Given the description of an element on the screen output the (x, y) to click on. 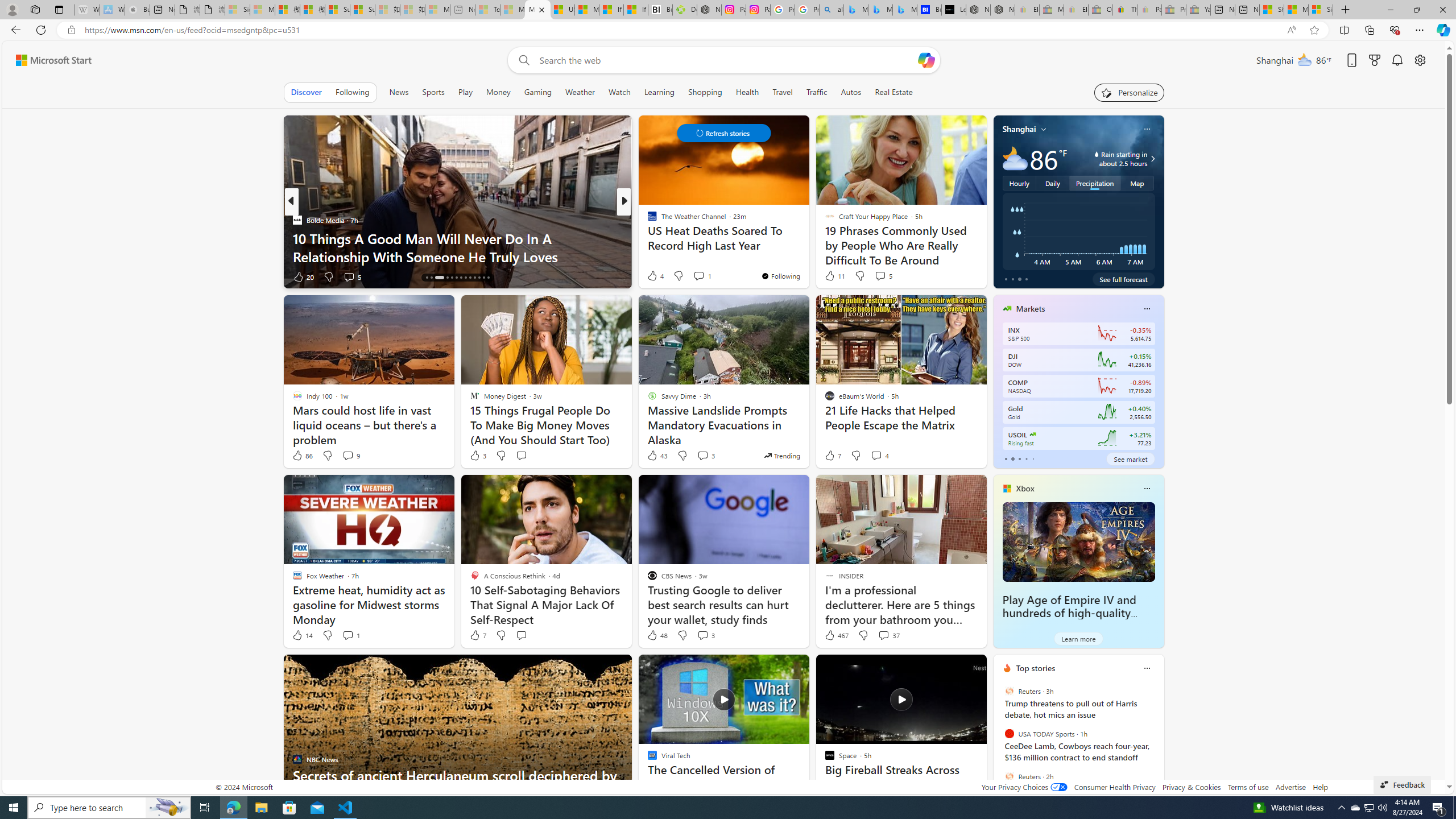
View comments 339 Comment (709, 276)
AutomationID: tab-20 (460, 277)
next (1158, 741)
Shopping (705, 92)
Nordace - Nordace Edin Collection (708, 9)
View comments 1 Comment (347, 635)
previous (998, 741)
View comments 9 Comment (347, 455)
View comments 35 Comment (703, 276)
38 Like (652, 276)
ChaChingQueen (647, 219)
